Given the description of an element on the screen output the (x, y) to click on. 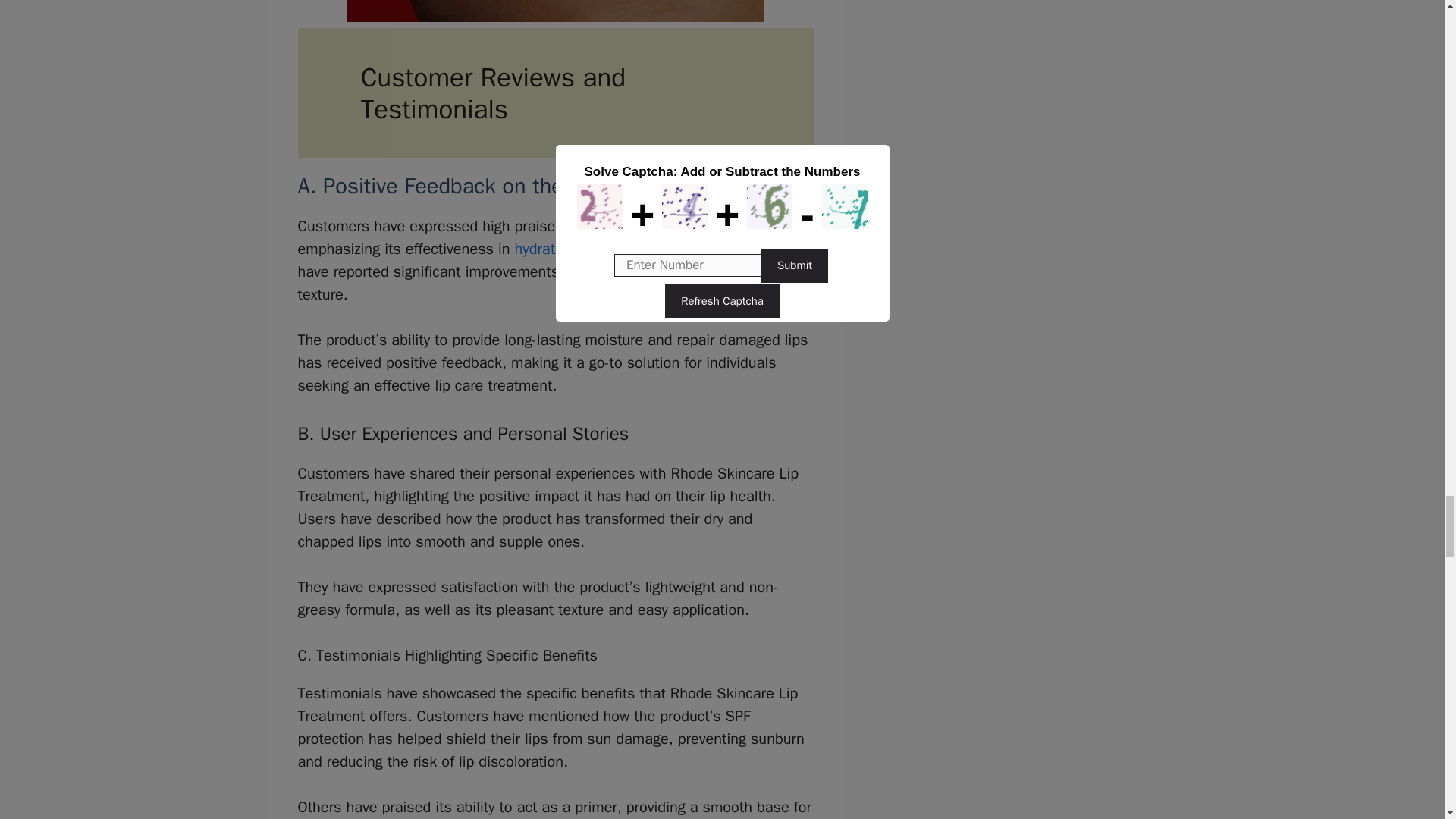
hydrating (545, 248)
